Given the description of an element on the screen output the (x, y) to click on. 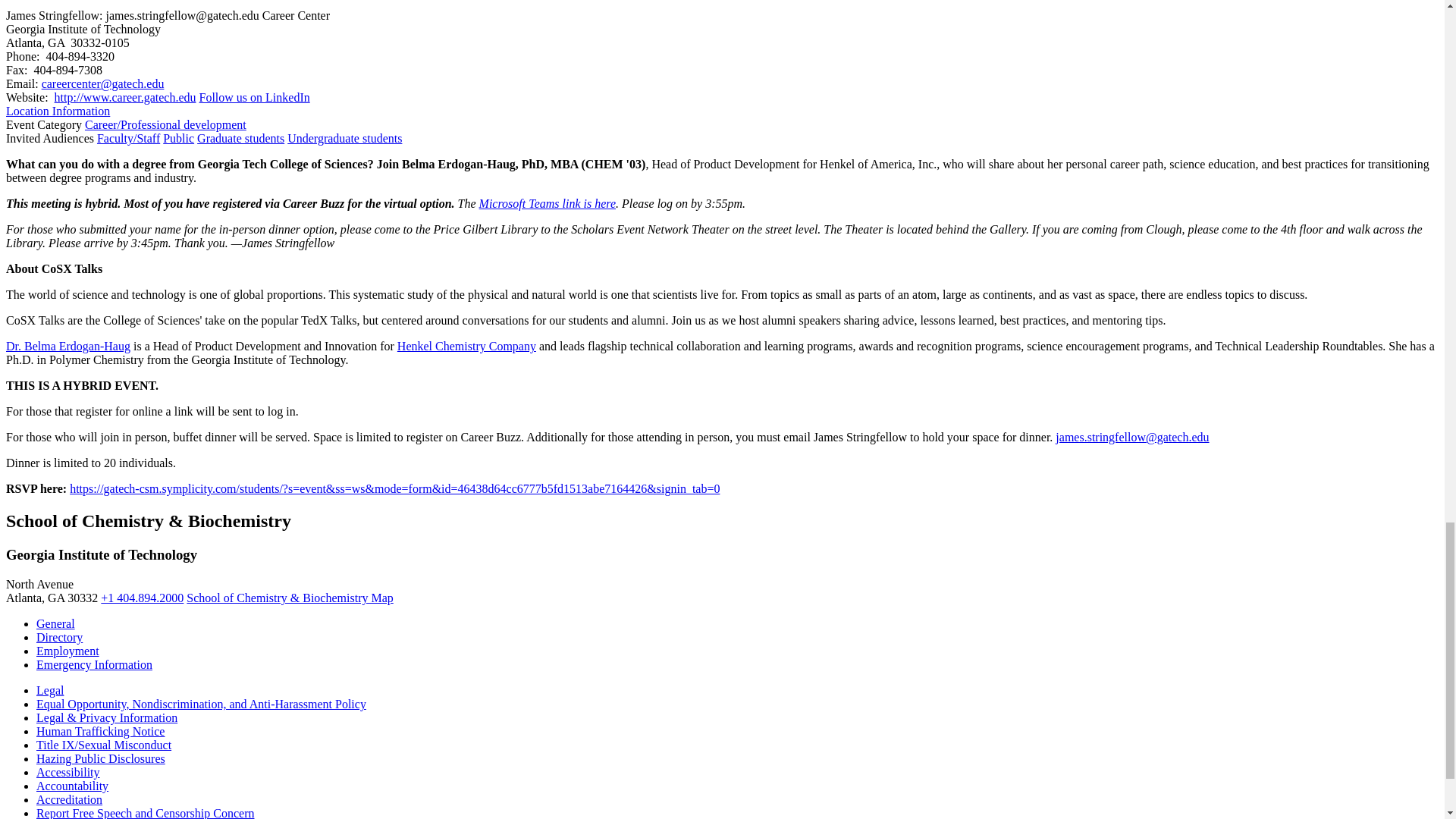
Legal Main Menu Category (50, 689)
Georgia Human Trafficking Resources (100, 730)
Georgia Institute of Technology Accessibility Resources (68, 771)
Georgia Institute of Technology Employment (67, 650)
Georgia Tech Hazing Conduct History (100, 758)
General Main Menu Category (55, 623)
Georgia Institute of Technology Directory (59, 636)
Georgia Institute of Technology Accountability Resources (71, 785)
Georgia Institute of Technology Emergency Information (94, 664)
